Given the description of an element on the screen output the (x, y) to click on. 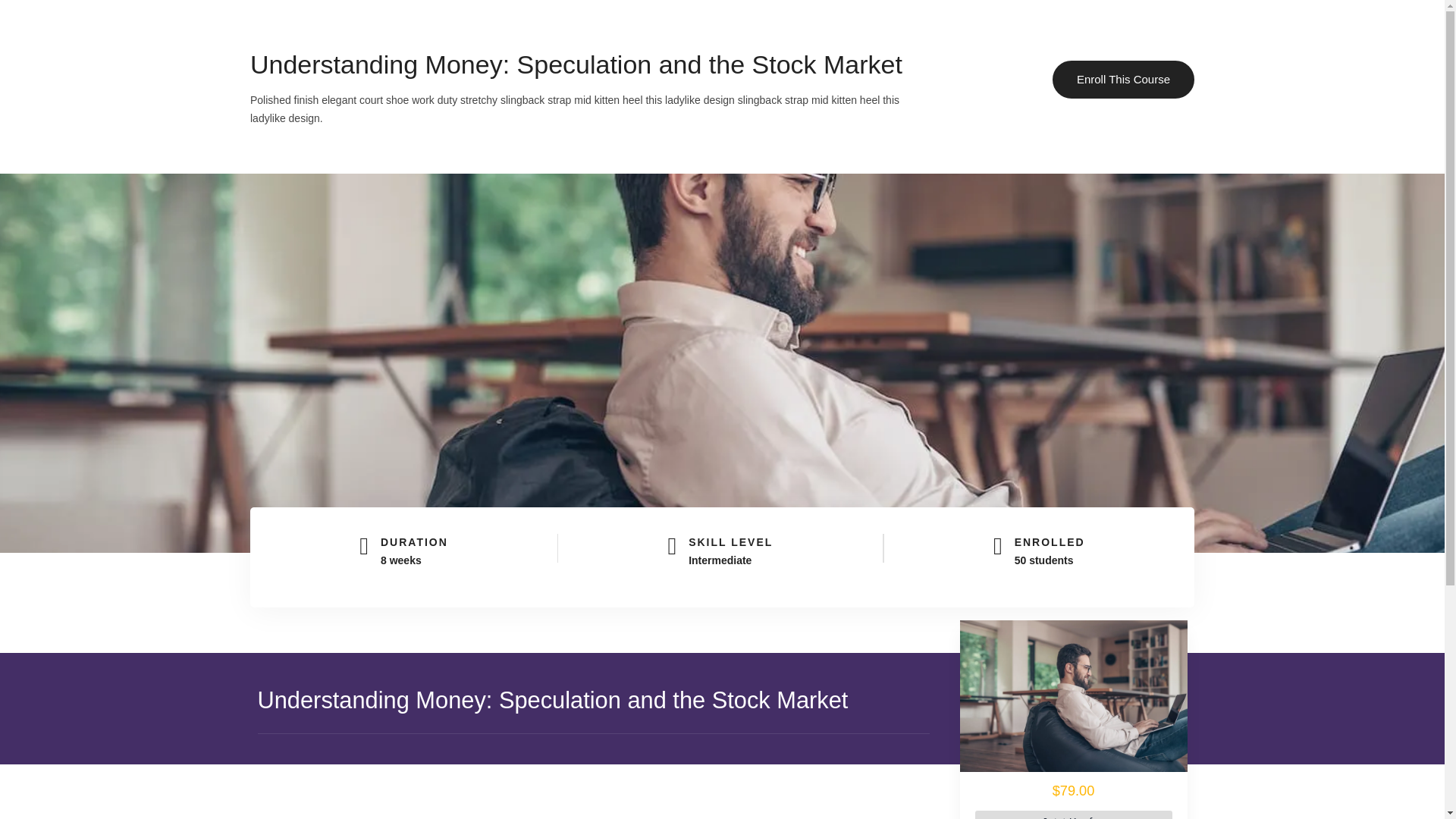
Enroll This Course (1122, 79)
Jetzt Kaufen (1073, 814)
Understanding Money: Speculation and the Stock Market (1073, 695)
